Given the description of an element on the screen output the (x, y) to click on. 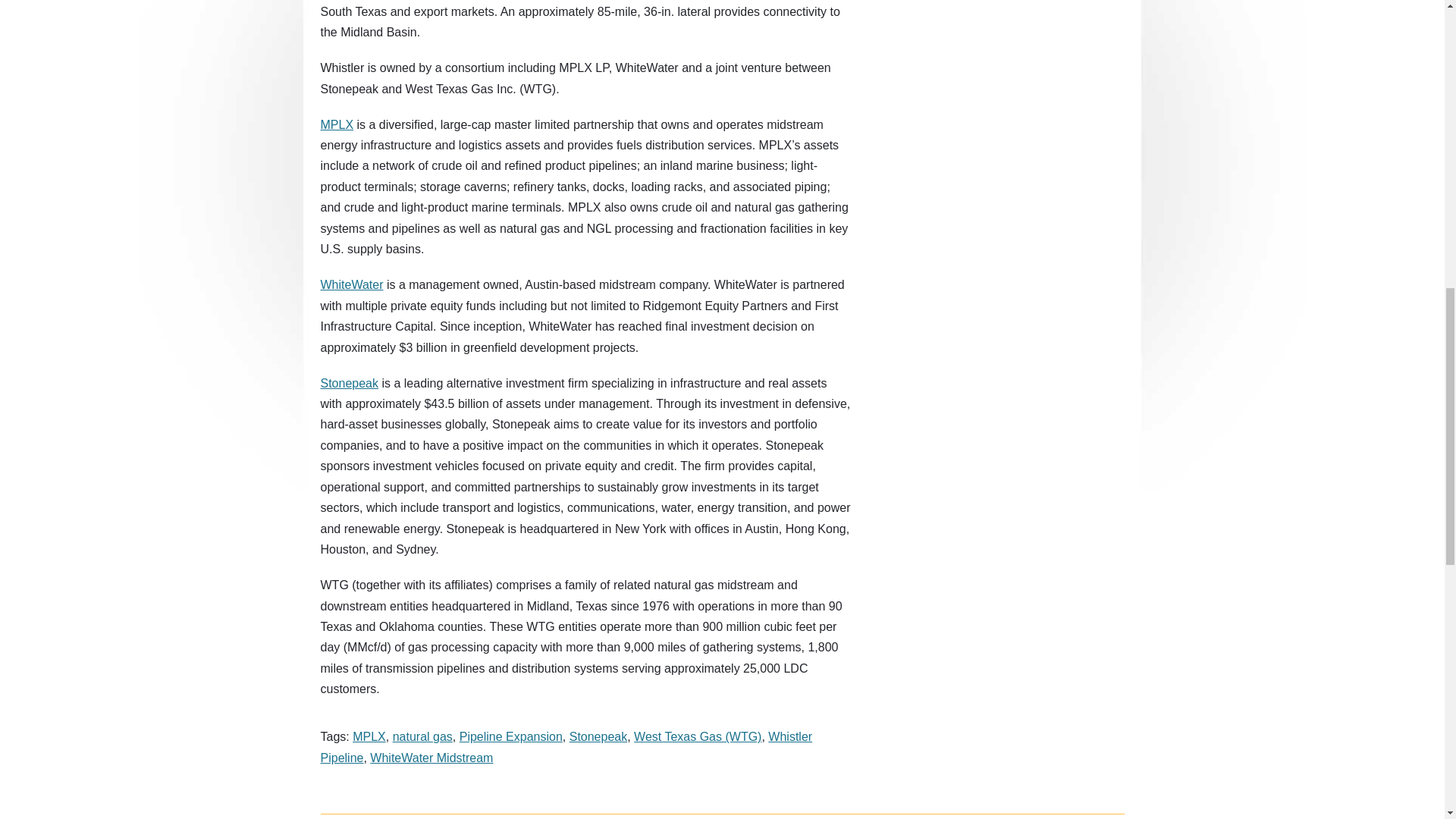
MPLX (336, 124)
MPLX (368, 736)
natural gas (422, 736)
Pipeline Expansion (511, 736)
WhiteWater (351, 284)
WhiteWater Midstream (431, 757)
Stonepeak (598, 736)
Whistler Pipeline (566, 746)
Stonepeak (349, 382)
